Given the description of an element on the screen output the (x, y) to click on. 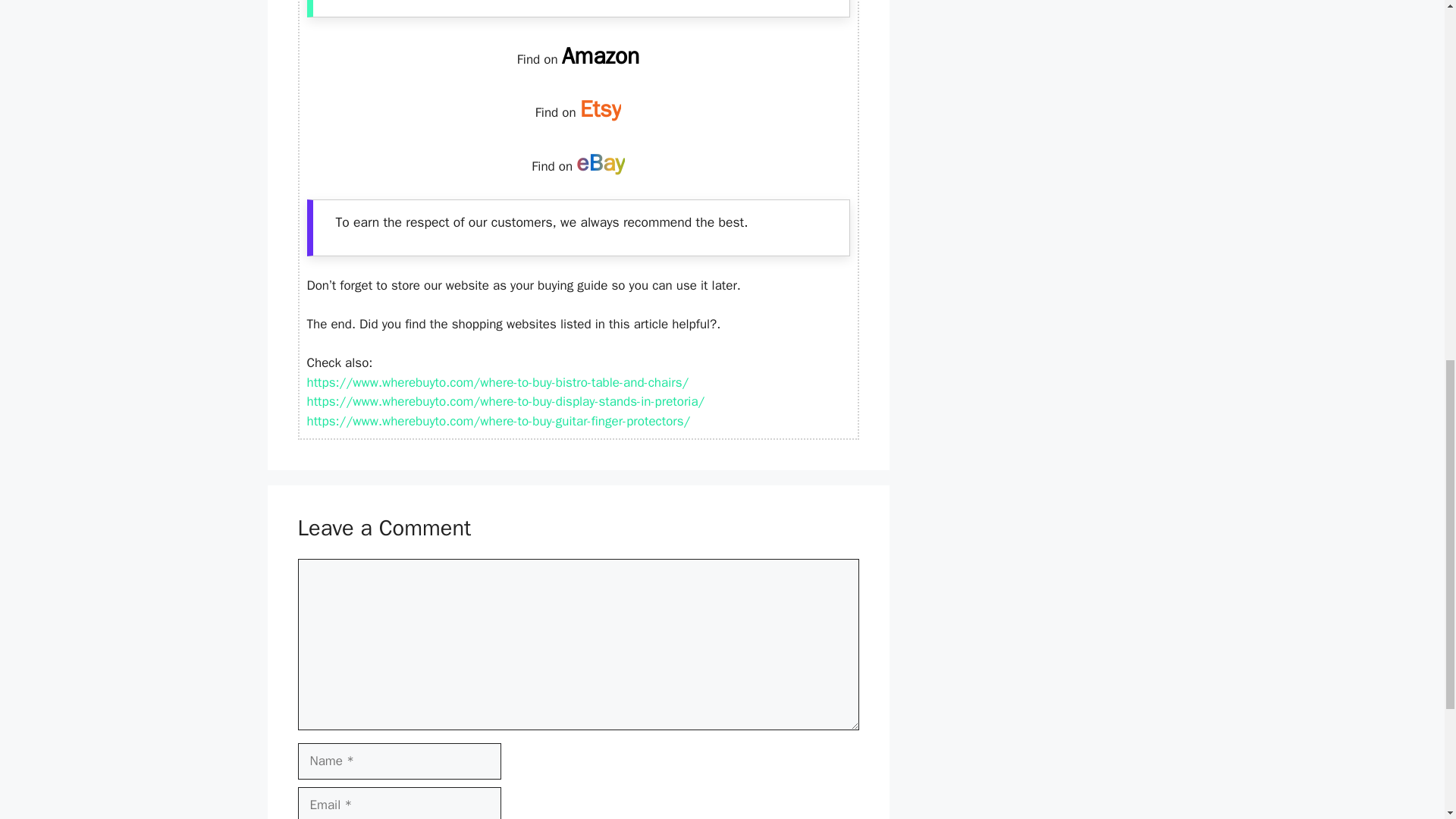
Etsy (600, 109)
eBay (600, 162)
Amazon (600, 55)
